Given the description of an element on the screen output the (x, y) to click on. 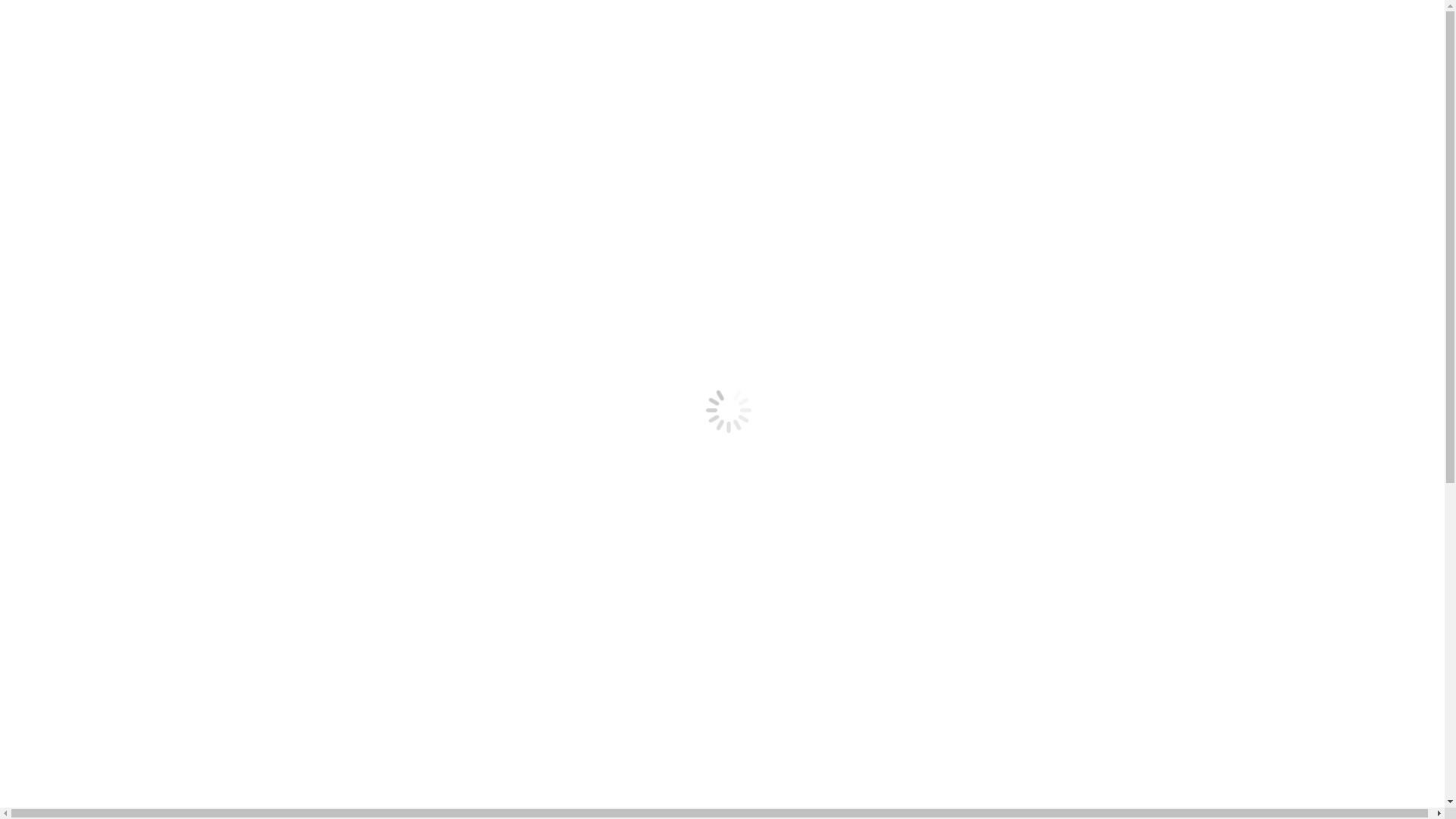
Construction Maintenance Element type: text (130, 133)
Contact Us Element type: text (63, 388)
Contact Us Element type: text (63, 188)
About Us Element type: text (89, 119)
About Us Element type: text (89, 319)
Our Work Element type: text (60, 279)
Facility Management Element type: text (117, 147)
Testimonials Element type: text (67, 92)
Skip to content Element type: text (5, 5)
Home Element type: text (50, 265)
Services Element type: text (56, 106)
Testimonials Element type: text (67, 292)
Healthcare Facility Services Element type: text (134, 374)
Healthcare Facility Services Element type: text (134, 174)
Facility Maintenance Element type: text (117, 360)
Facility Maintenance Element type: text (117, 160)
Our Work Element type: text (60, 78)
Facility Management Element type: text (117, 347)
Construction Maintenance Element type: text (130, 333)
Home Element type: text (50, 65)
Services Element type: text (56, 306)
